Given the description of an element on the screen output the (x, y) to click on. 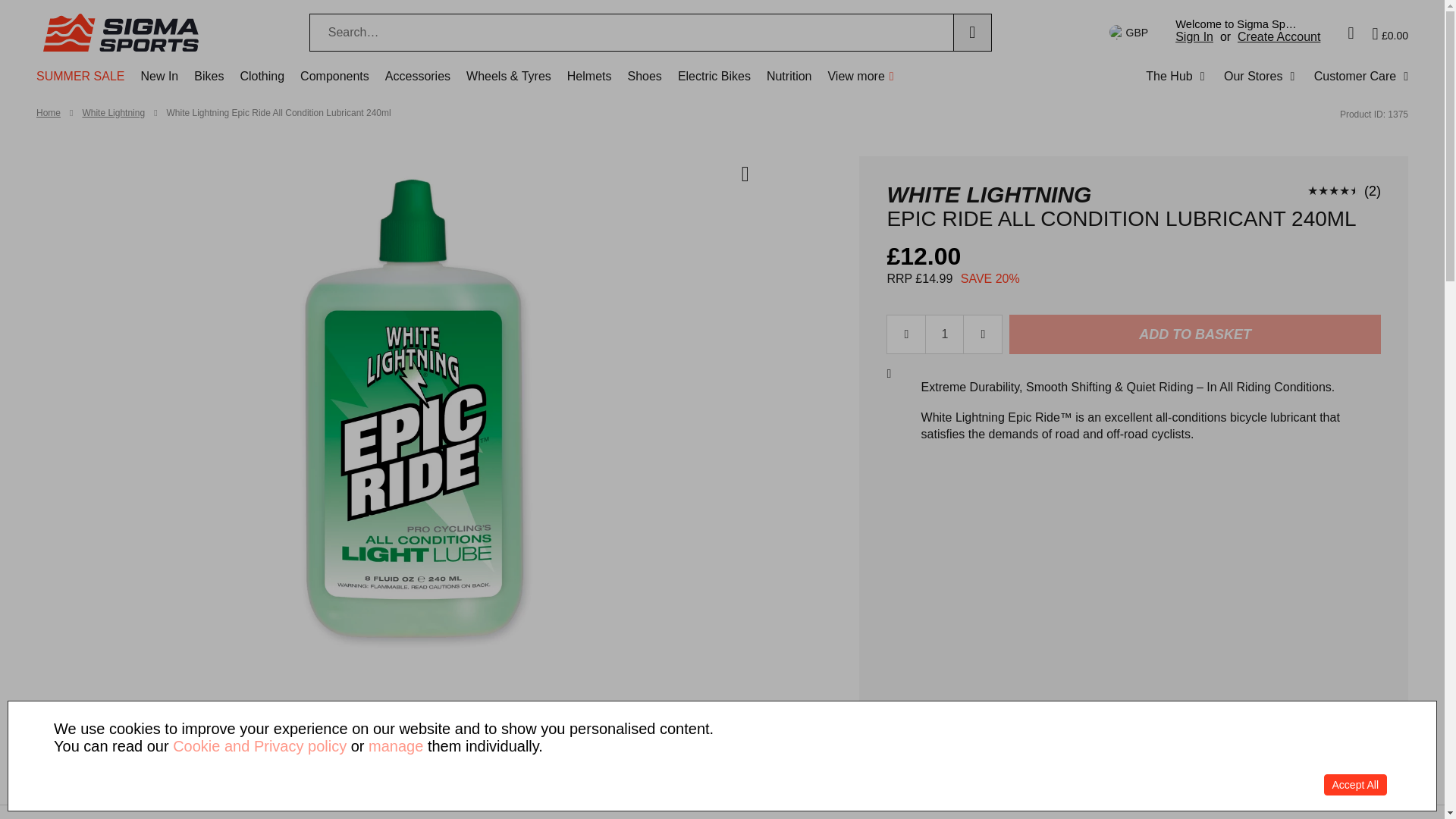
REVIEWS (871, 812)
DESCRIPTION (526, 812)
1 (944, 333)
GBP (1125, 32)
Create Account (1278, 36)
Search (972, 32)
Sign In (1193, 36)
Bikes (208, 83)
Search Sigma Sports (630, 32)
New In (158, 83)
SUMMER SALE (79, 83)
